Given the description of an element on the screen output the (x, y) to click on. 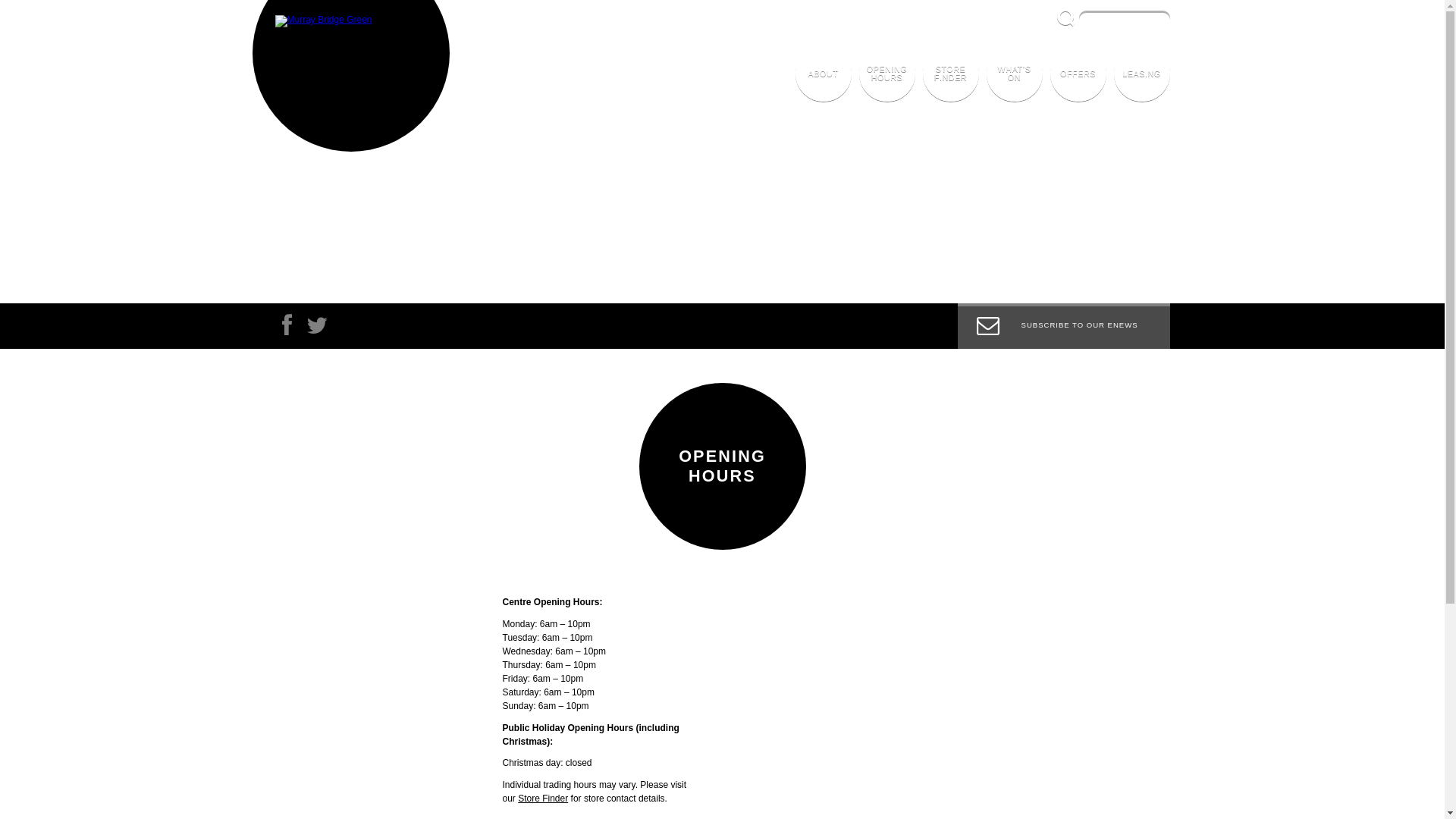
Twitter Element type: hover (315, 328)
Subscribe Element type: text (1063, 282)
STORE FINDER Element type: text (950, 73)
LEASING Element type: text (1141, 73)
ABOUT Element type: text (822, 73)
Facebook Element type: hover (285, 328)
OFFERS Element type: text (1077, 73)
Store Finder Element type: text (542, 798)
SUBSCRIBE TO OUR ENEWS Element type: text (1063, 325)
s Element type: text (1065, 17)
OPENING HOURS Element type: text (886, 73)
Murray Bridge Green Element type: hover (322, 21)
